Given the description of an element on the screen output the (x, y) to click on. 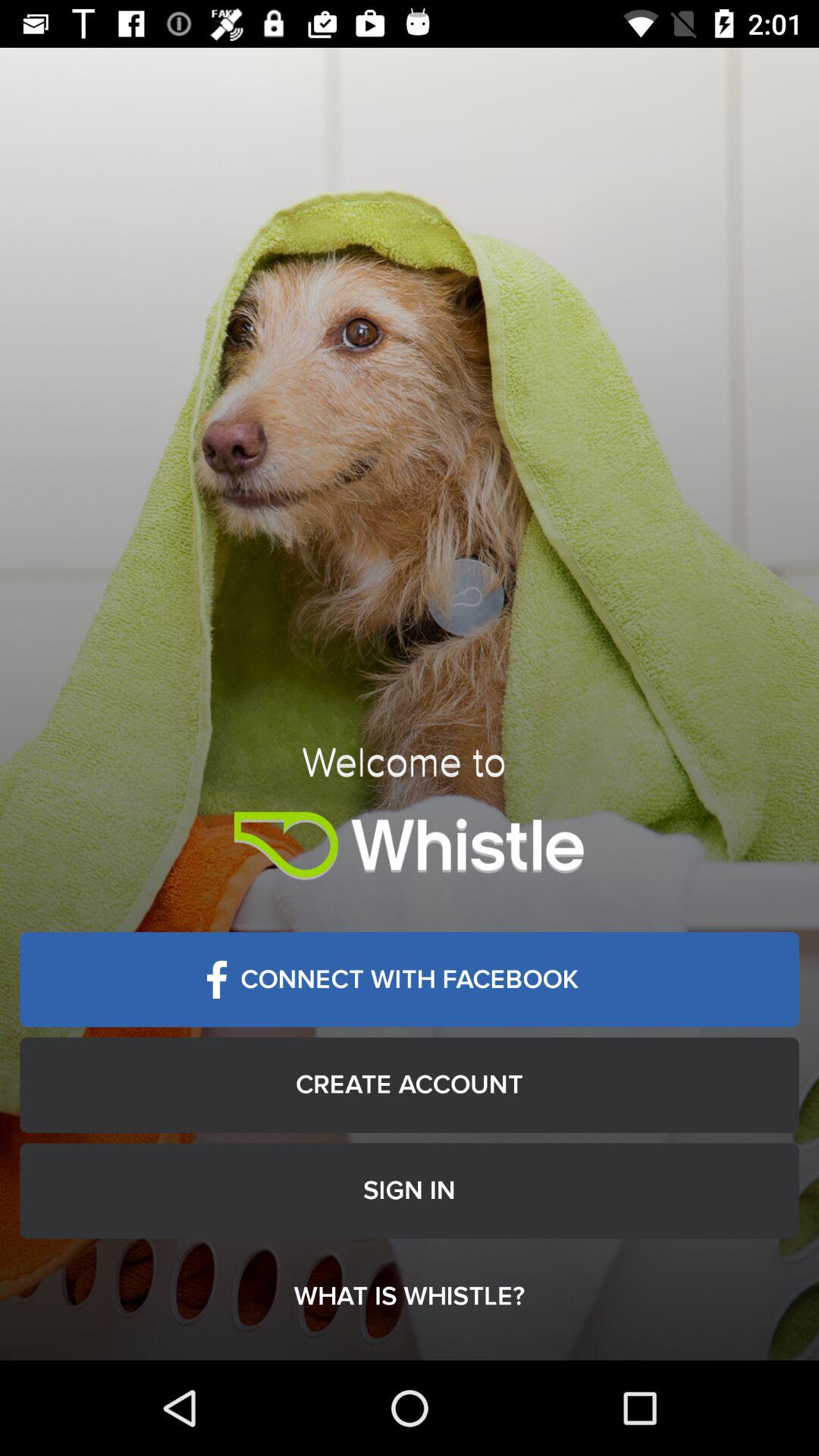
choose the create account item (409, 1084)
